Given the description of an element on the screen output the (x, y) to click on. 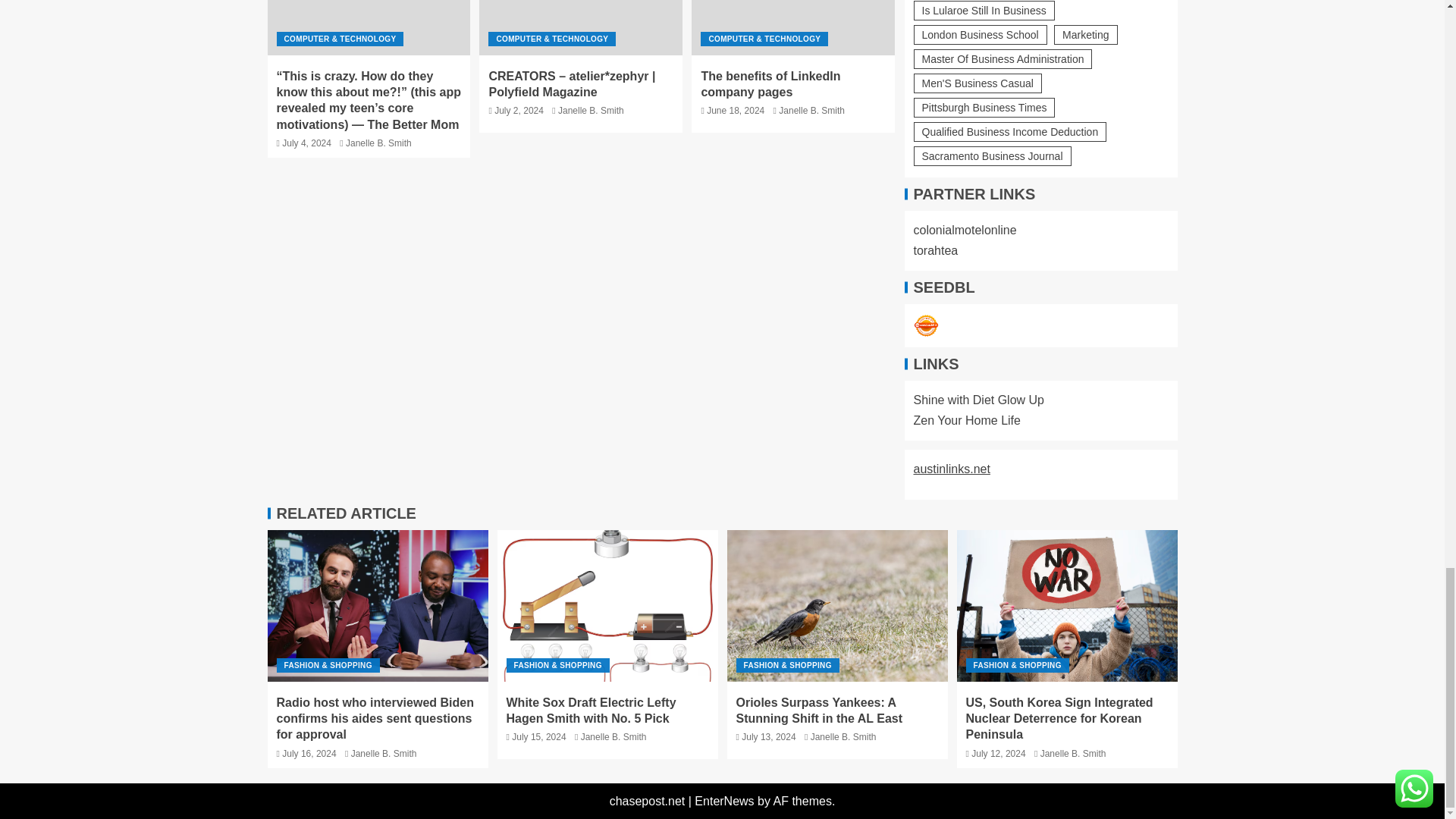
The benefits of LinkedIn company pages (793, 27)
Orioles Surpass Yankees: A Stunning Shift in the AL East (836, 605)
Seedbacklink (925, 325)
White Sox Draft Electric Lefty Hagen Smith with No. 5 Pick (607, 605)
